Given the description of an element on the screen output the (x, y) to click on. 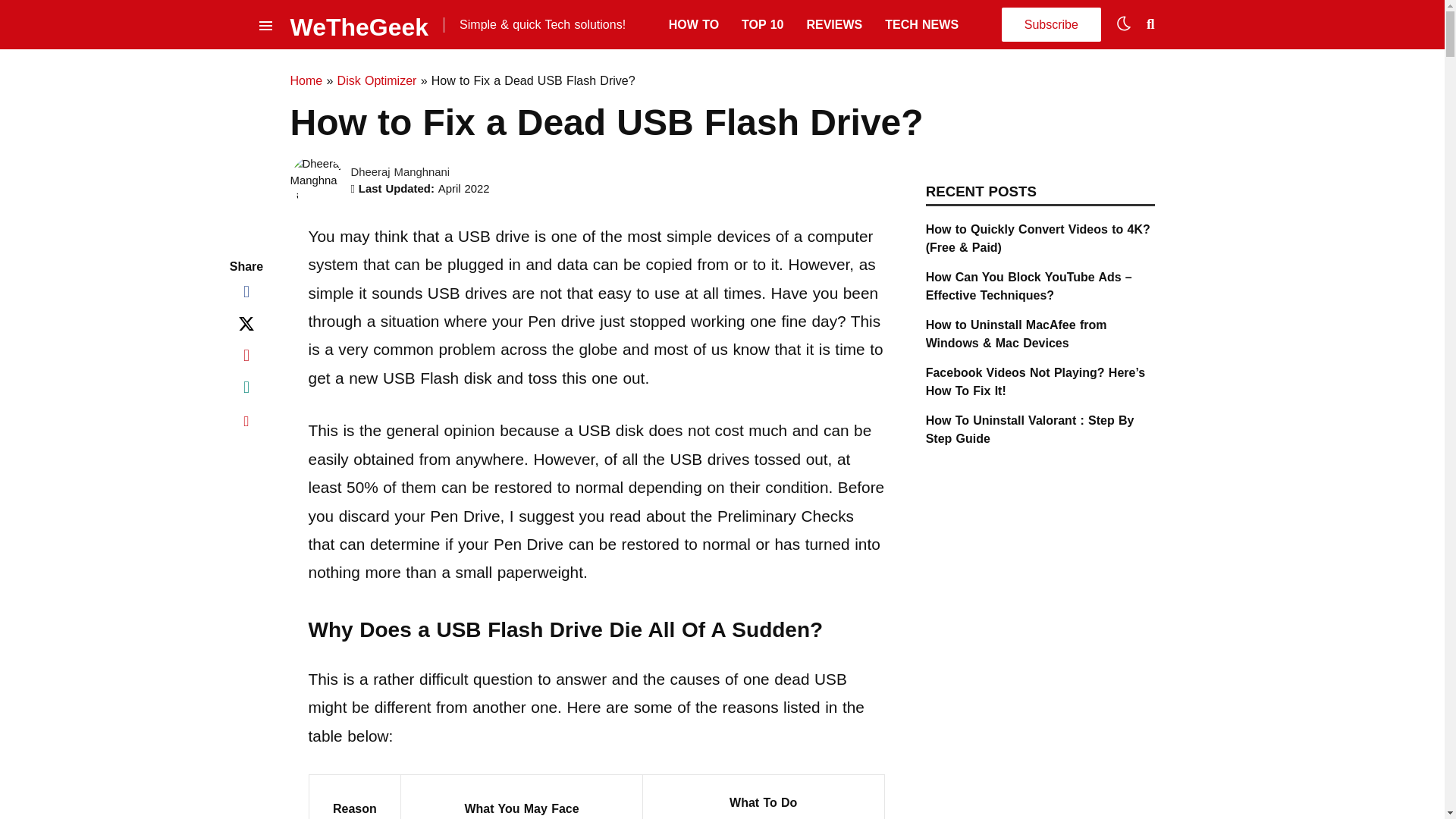
Dheeraj Manghnani (399, 172)
Disk Optimizer (376, 80)
Home (305, 80)
TECH NEWS (921, 24)
HOW TO (693, 24)
REVIEWS (833, 24)
TOP 10 (762, 24)
WeTheGeek (358, 24)
